Given the description of an element on the screen output the (x, y) to click on. 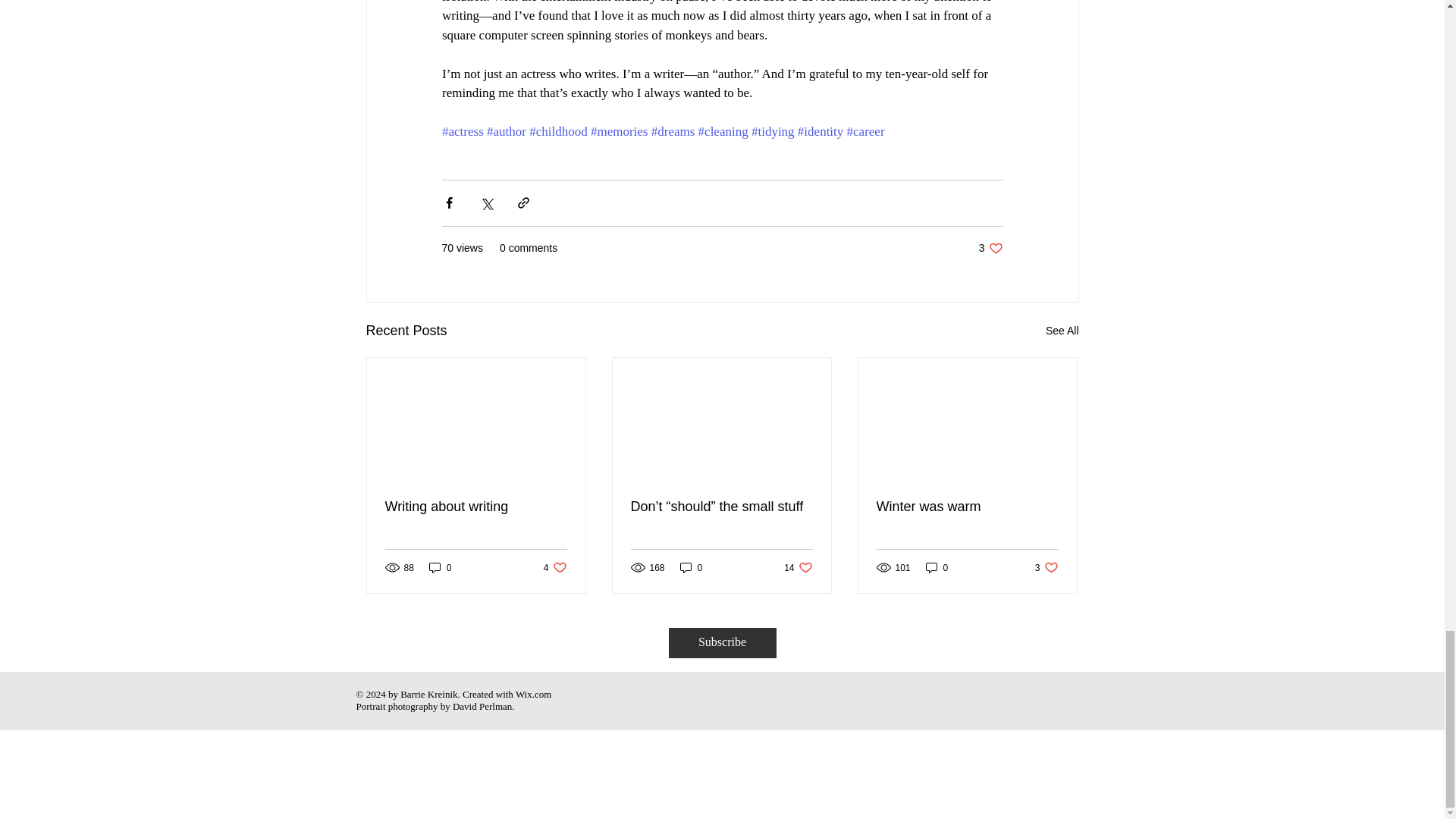
Writing about writing (476, 506)
0 (440, 567)
See All (798, 567)
0 (1061, 331)
